Given the description of an element on the screen output the (x, y) to click on. 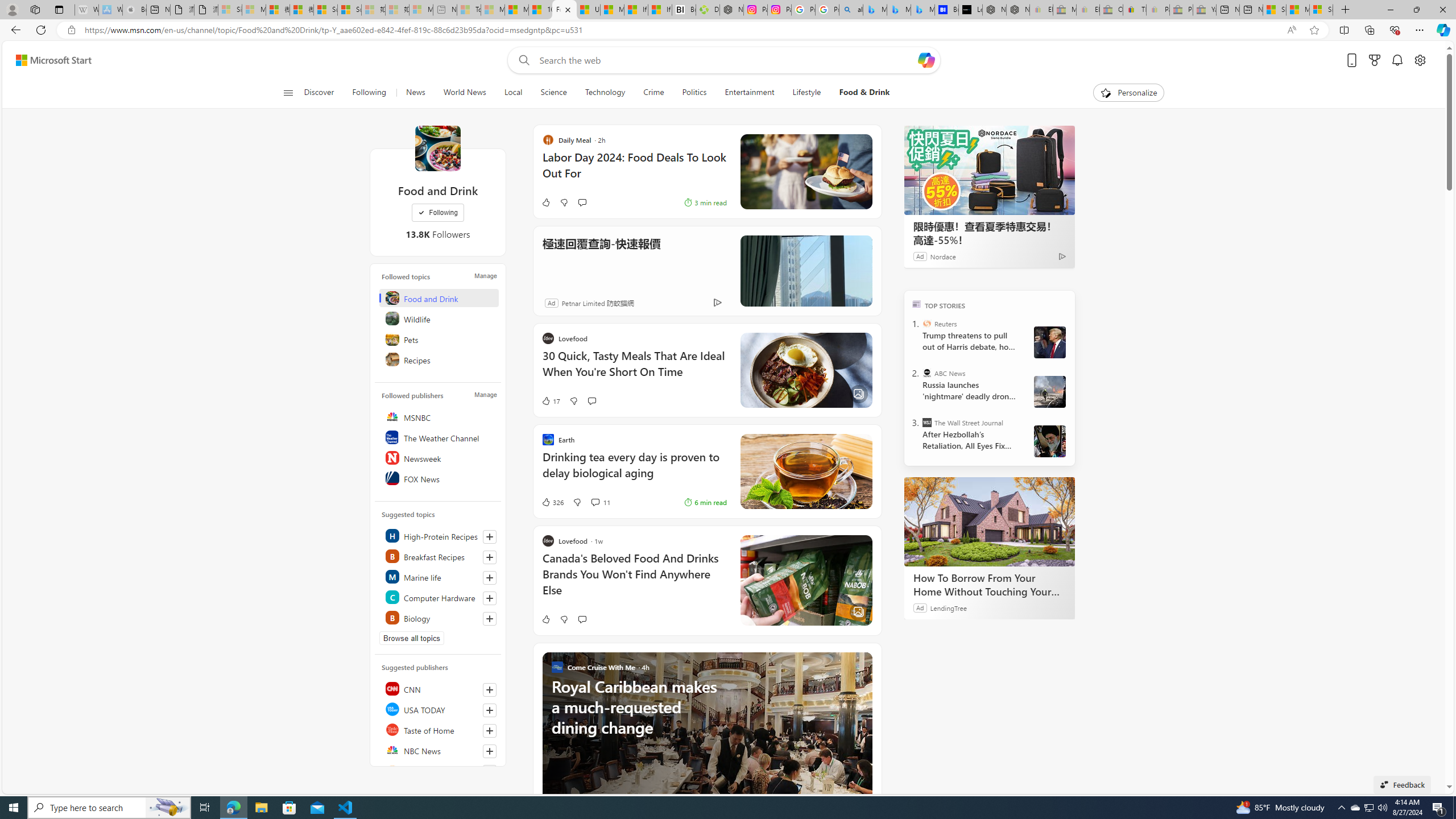
Enter your search term (726, 59)
Crime (653, 92)
Microsoft rewards (1374, 60)
Class: highlight (439, 617)
Microsoft Services Agreement - Sleeping (253, 9)
US Heat Deaths Soared To Record High Last Year (588, 9)
Manage (485, 394)
Open navigation menu (287, 92)
Skip to content (49, 59)
